Given the description of an element on the screen output the (x, y) to click on. 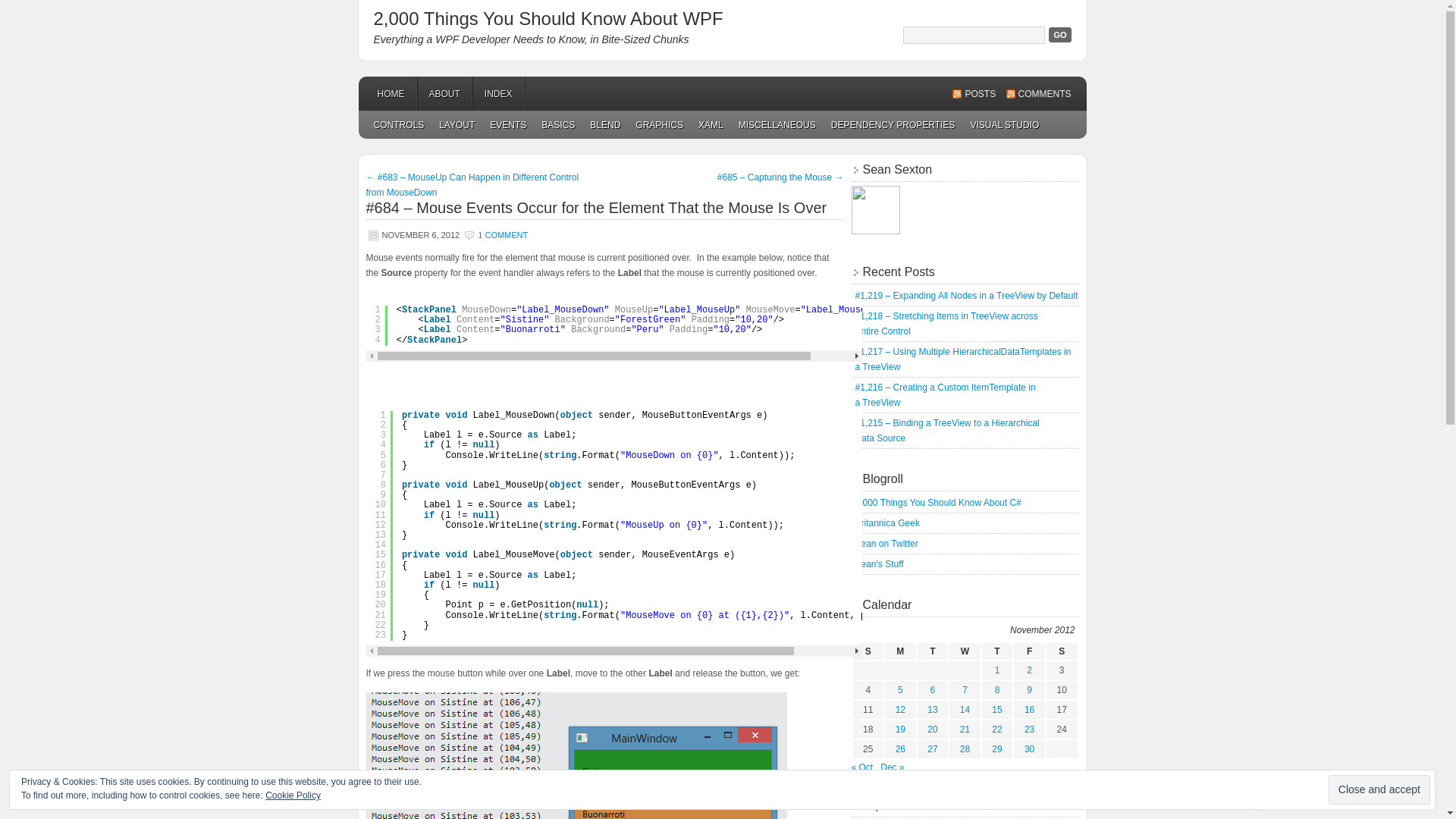
Follow Element type: text (1374, 797)
29 Element type: text (996, 748)
2,000 Things You Should Know About C# Element type: text (938, 502)
HOME Element type: text (391, 93)
Close and accept Element type: text (1379, 789)
LAYOUT Element type: text (456, 124)
Sean on Twitter Element type: text (886, 543)
COMMENTS Element type: text (1037, 93)
28 Element type: text (964, 748)
BASICS Element type: text (557, 124)
19 Element type: text (900, 729)
POSTS Element type: text (973, 93)
Cookie Policy Element type: text (292, 795)
CONTROLS Element type: text (398, 124)
20 Element type: text (932, 729)
9 Element type: text (1029, 689)
21 Element type: text (964, 729)
2,000 Things You Should Know About WPF Element type: text (547, 18)
ABOUT Element type: text (444, 93)
12 Element type: text (900, 709)
27 Element type: text (932, 748)
1 Element type: text (997, 670)
INDEX Element type: text (499, 93)
Go Element type: text (1059, 34)
6 Element type: text (932, 689)
BLEND Element type: text (604, 124)
13 Element type: text (932, 709)
5 Element type: text (900, 689)
8 Element type: text (997, 689)
22 Element type: text (996, 729)
30 Element type: text (1029, 748)
2 Element type: text (1029, 670)
EVENTS Element type: text (507, 124)
1 COMMENT Element type: text (502, 234)
DEPENDENCY PROPERTIES Element type: text (893, 124)
7 Element type: text (964, 689)
Comment Element type: text (1299, 797)
VISUAL STUDIO Element type: text (1004, 124)
26 Element type: text (900, 748)
15 Element type: text (996, 709)
GRAPHICS Element type: text (658, 124)
14 Element type: text (964, 709)
16 Element type: text (1029, 709)
Sean's Stuff Element type: text (879, 563)
23 Element type: text (1029, 729)
MISCELLANEOUS Element type: text (777, 124)
Britannica Geek Element type: text (887, 522)
XAML Element type: text (710, 124)
